Given the description of an element on the screen output the (x, y) to click on. 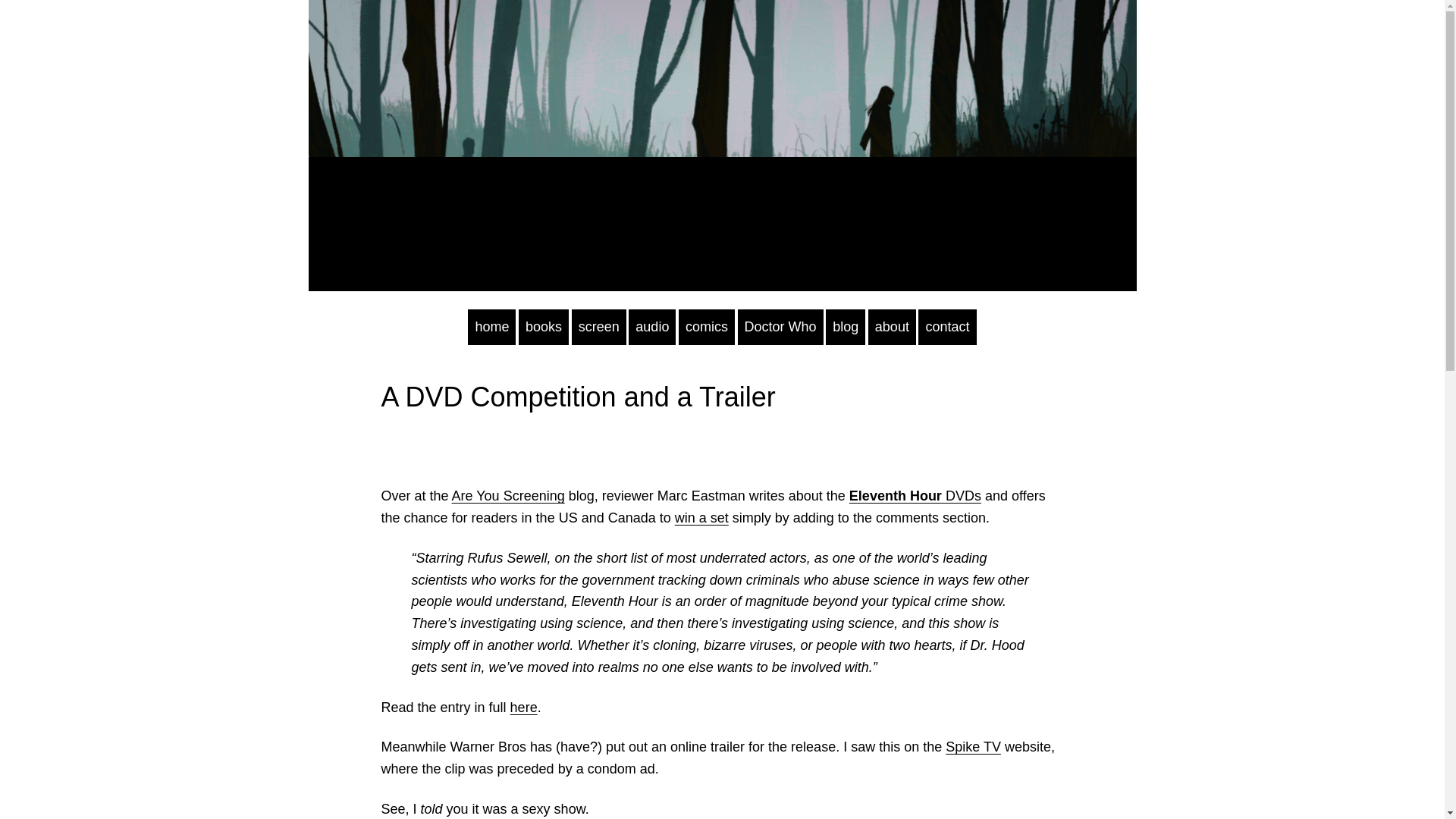
books (543, 326)
here (524, 707)
Doctor Who (781, 326)
about (891, 326)
contact (946, 326)
blog (844, 326)
Spike TV (972, 746)
Eleventh Hour (895, 495)
Are You Screening (507, 495)
screen (599, 326)
